Given the description of an element on the screen output the (x, y) to click on. 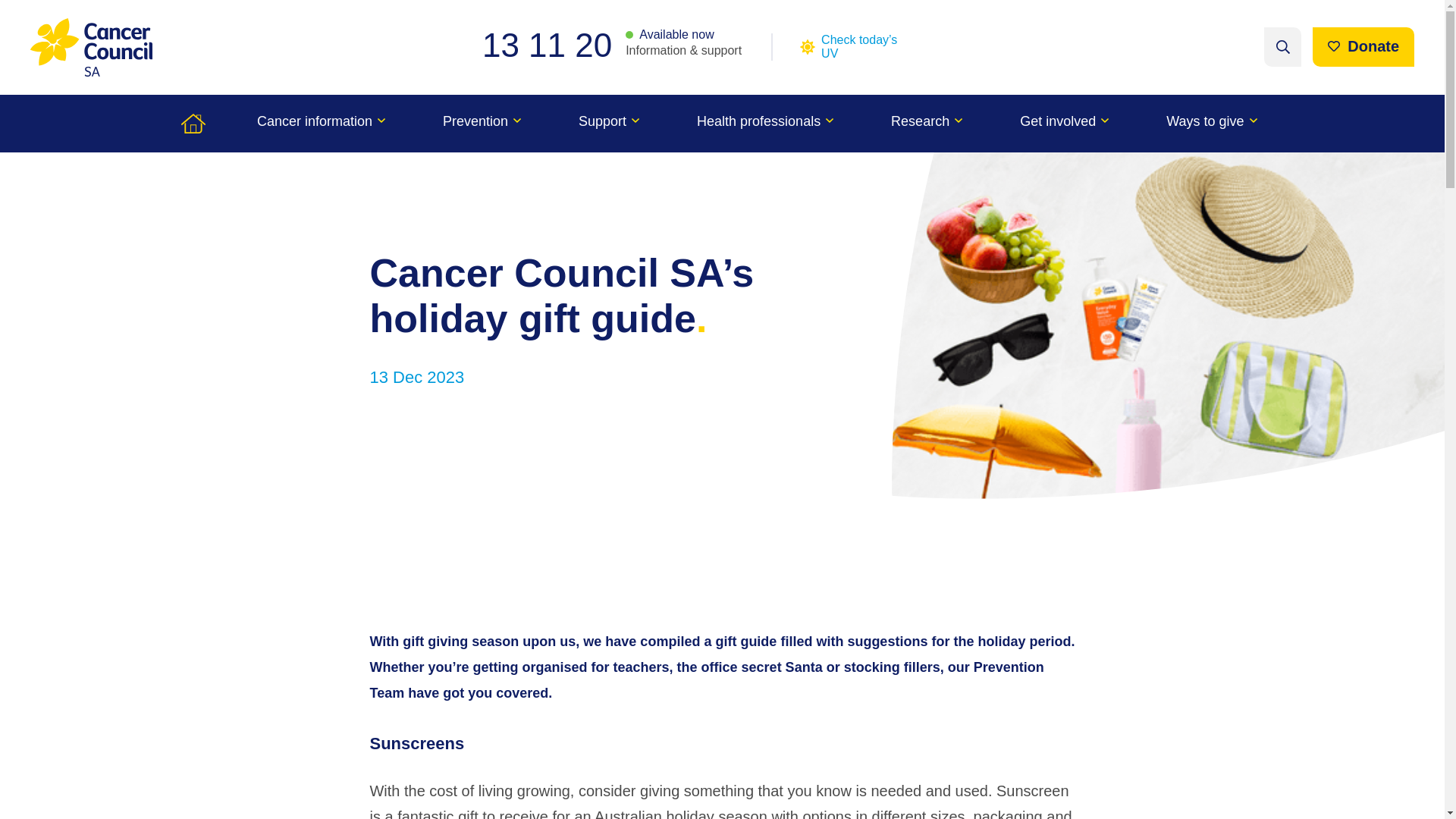
Donate (1363, 46)
Prevention (481, 123)
Cancer information (320, 123)
13 11 20 (553, 44)
Available now (670, 34)
Support (609, 123)
